Given the description of an element on the screen output the (x, y) to click on. 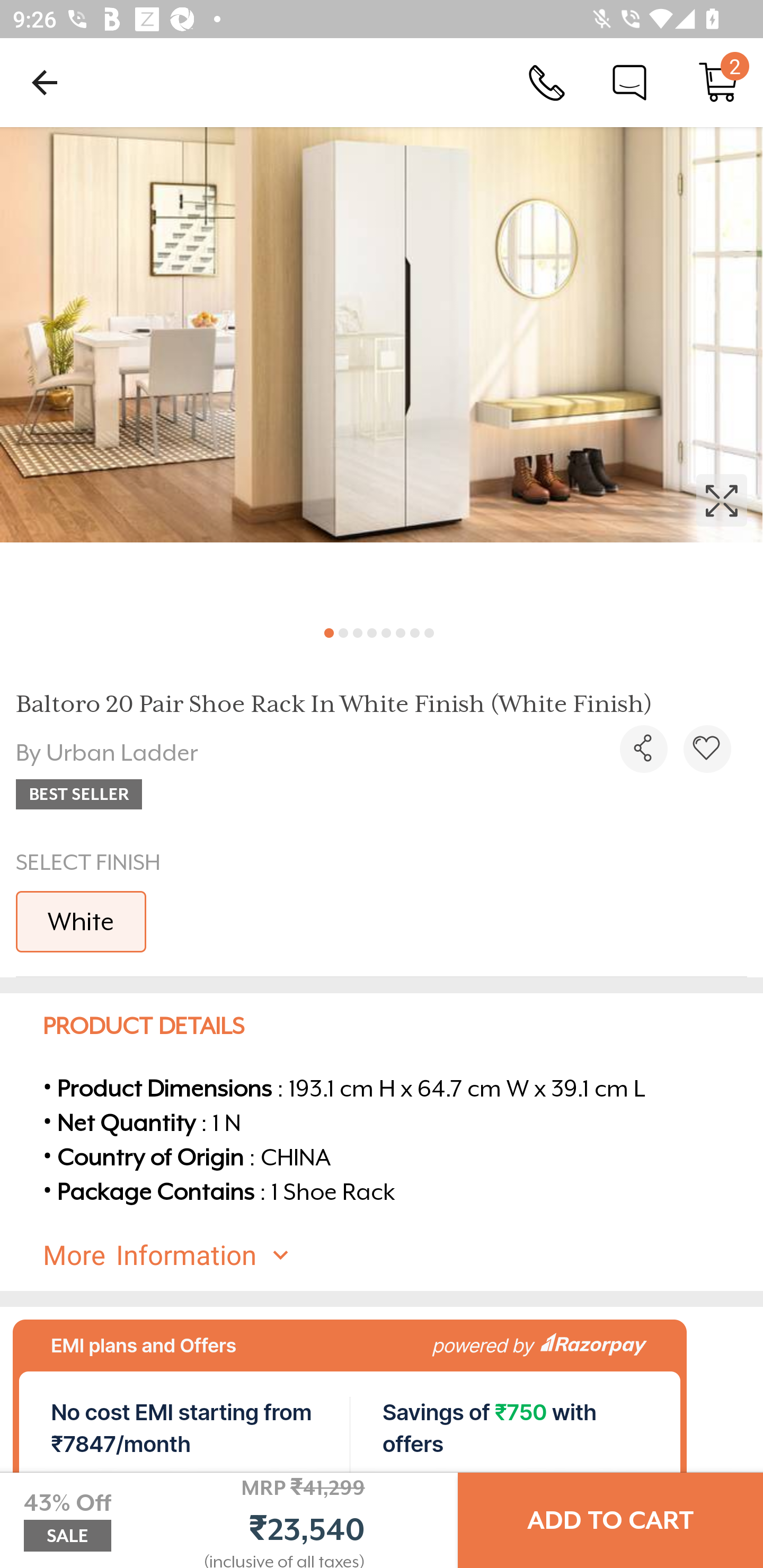
Navigate up (44, 82)
Call Us (546, 81)
Chat (629, 81)
Cart (718, 81)
 (381, 370)
 (643, 748)
 (706, 748)
White (81, 920)
More Information  (396, 1255)
ADD TO CART (610, 1520)
